Given the description of an element on the screen output the (x, y) to click on. 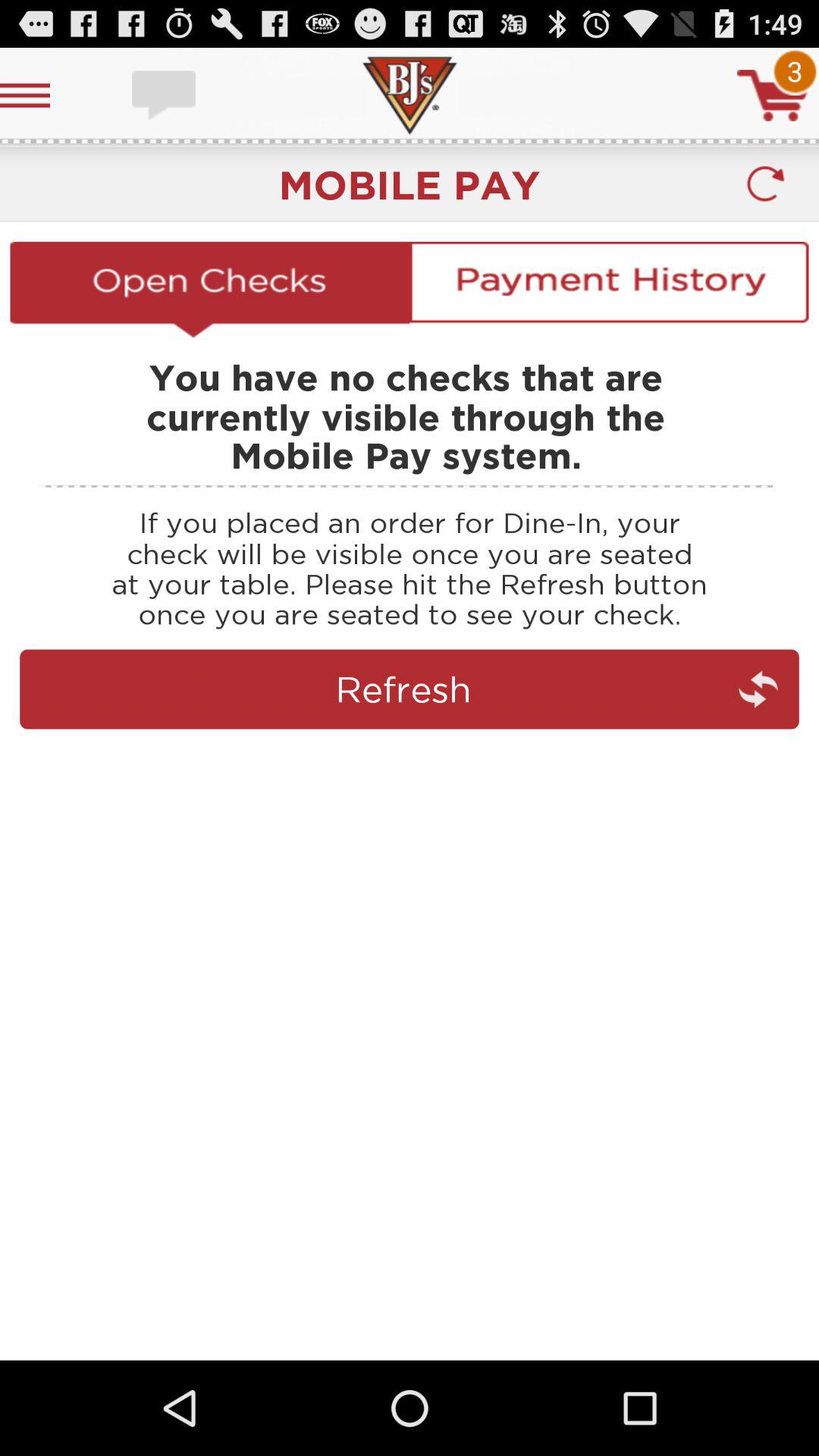
payment hisotyr (608, 289)
